Given the description of an element on the screen output the (x, y) to click on. 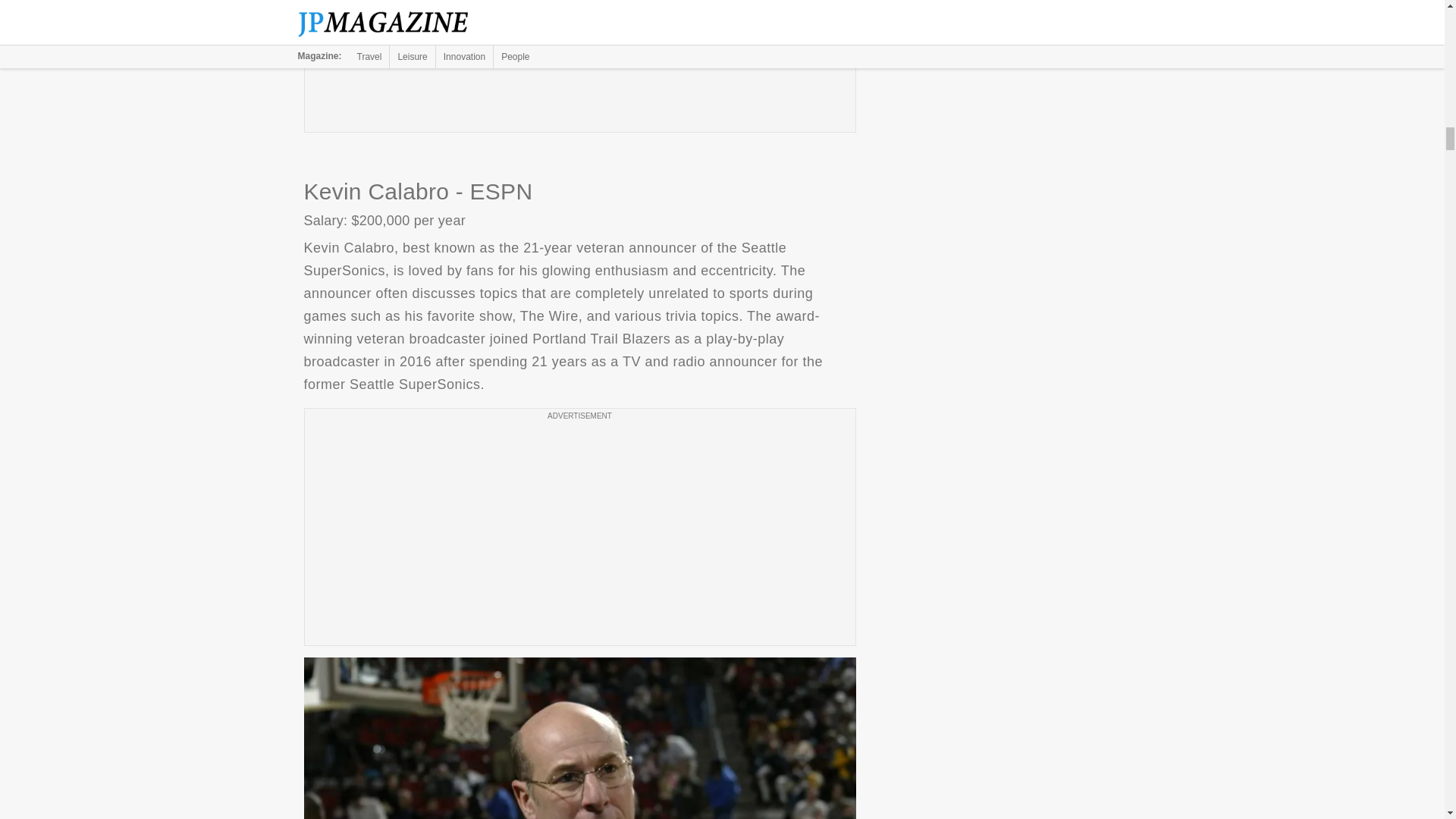
Kevin Calabro - ESPN (579, 738)
